Given the description of an element on the screen output the (x, y) to click on. 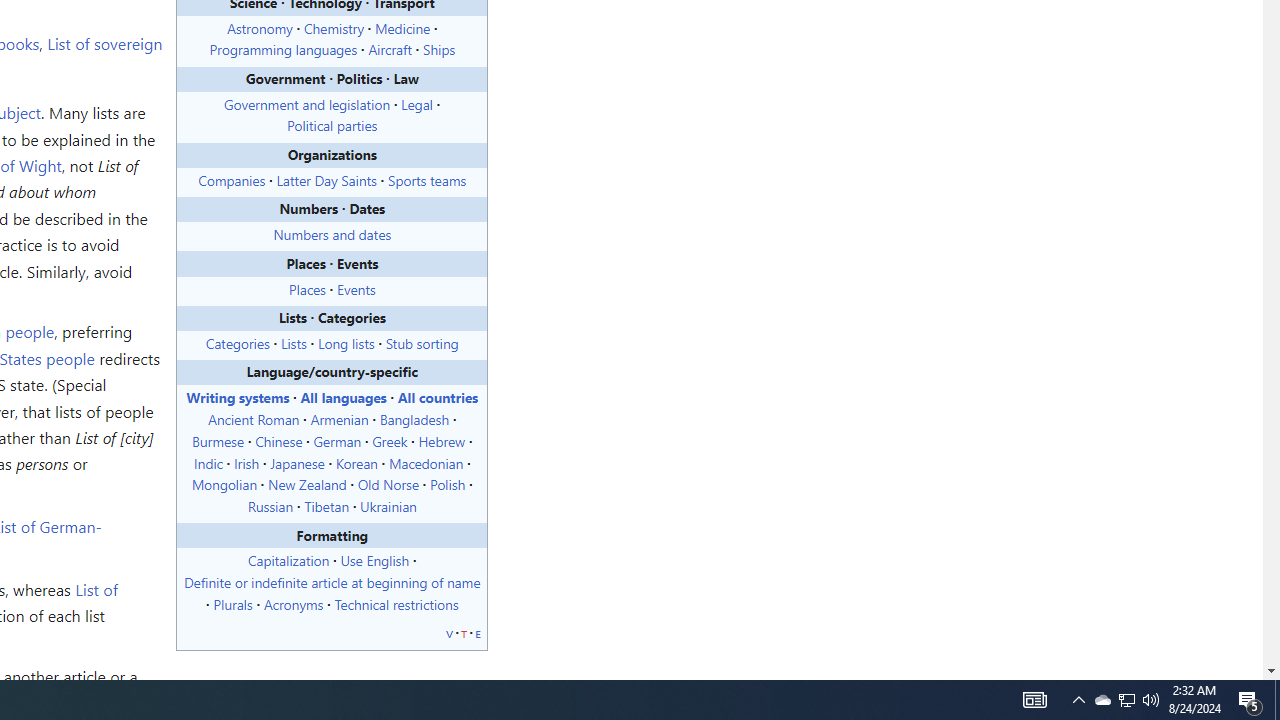
Ancient Roman (253, 419)
Events (356, 288)
Polish (447, 484)
Ships (438, 49)
Acronyms (292, 603)
t (464, 632)
Armenian (338, 419)
Mongolian (223, 484)
All countries (437, 397)
Ukrainian (388, 506)
German (337, 440)
Companies (232, 178)
Political parties (331, 125)
Old Norse (387, 484)
Greek (390, 440)
